Given the description of an element on the screen output the (x, y) to click on. 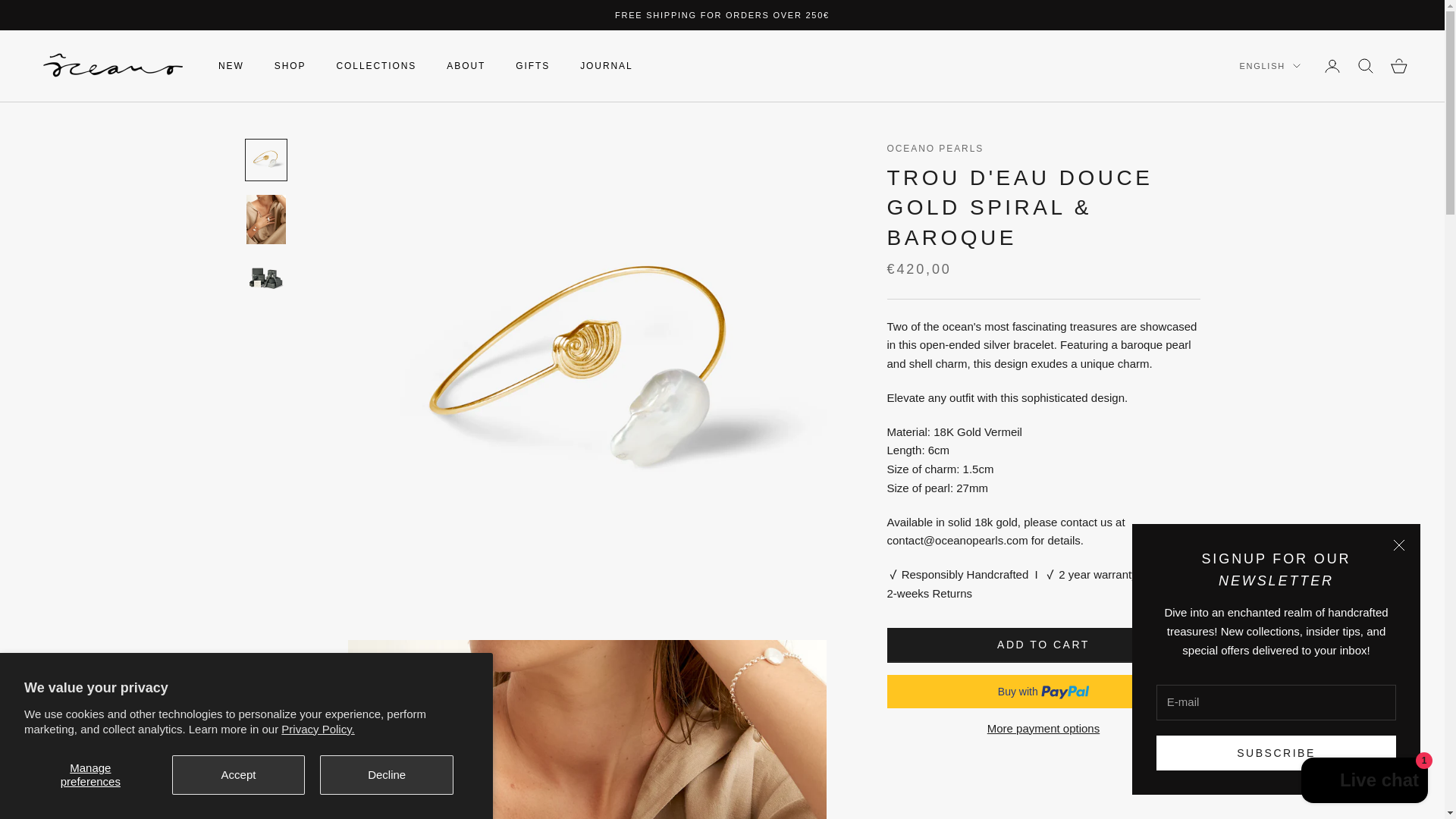
Manage preferences (90, 774)
Accept (238, 774)
Oceano Pearls (111, 65)
NEW (231, 65)
Shopify online store chat (1364, 781)
Decline (386, 774)
Privacy Policy. (317, 727)
Newsletter popup (1276, 659)
